Given the description of an element on the screen output the (x, y) to click on. 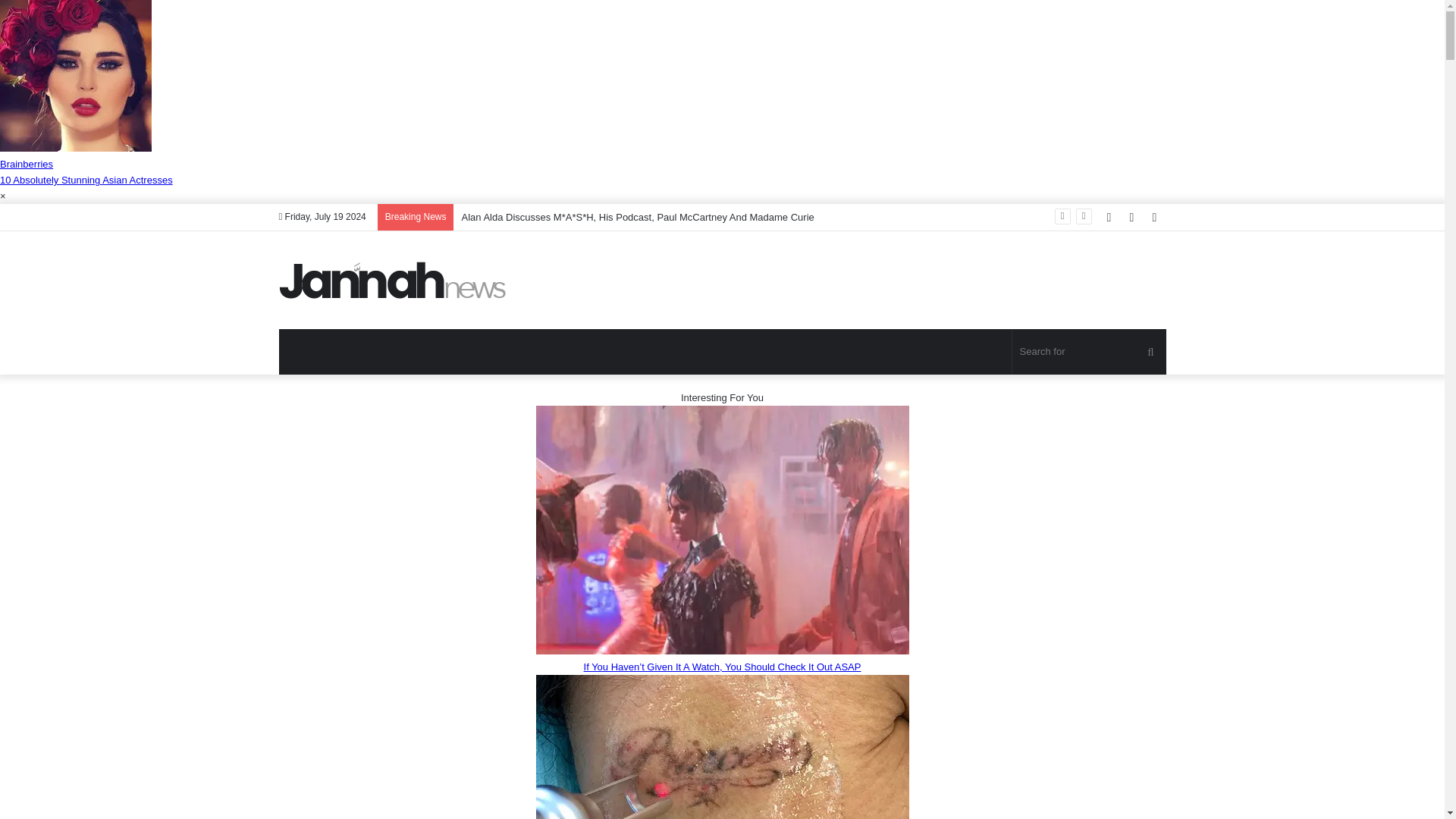
Search for (1088, 351)
Movie News (392, 279)
